Given the description of an element on the screen output the (x, y) to click on. 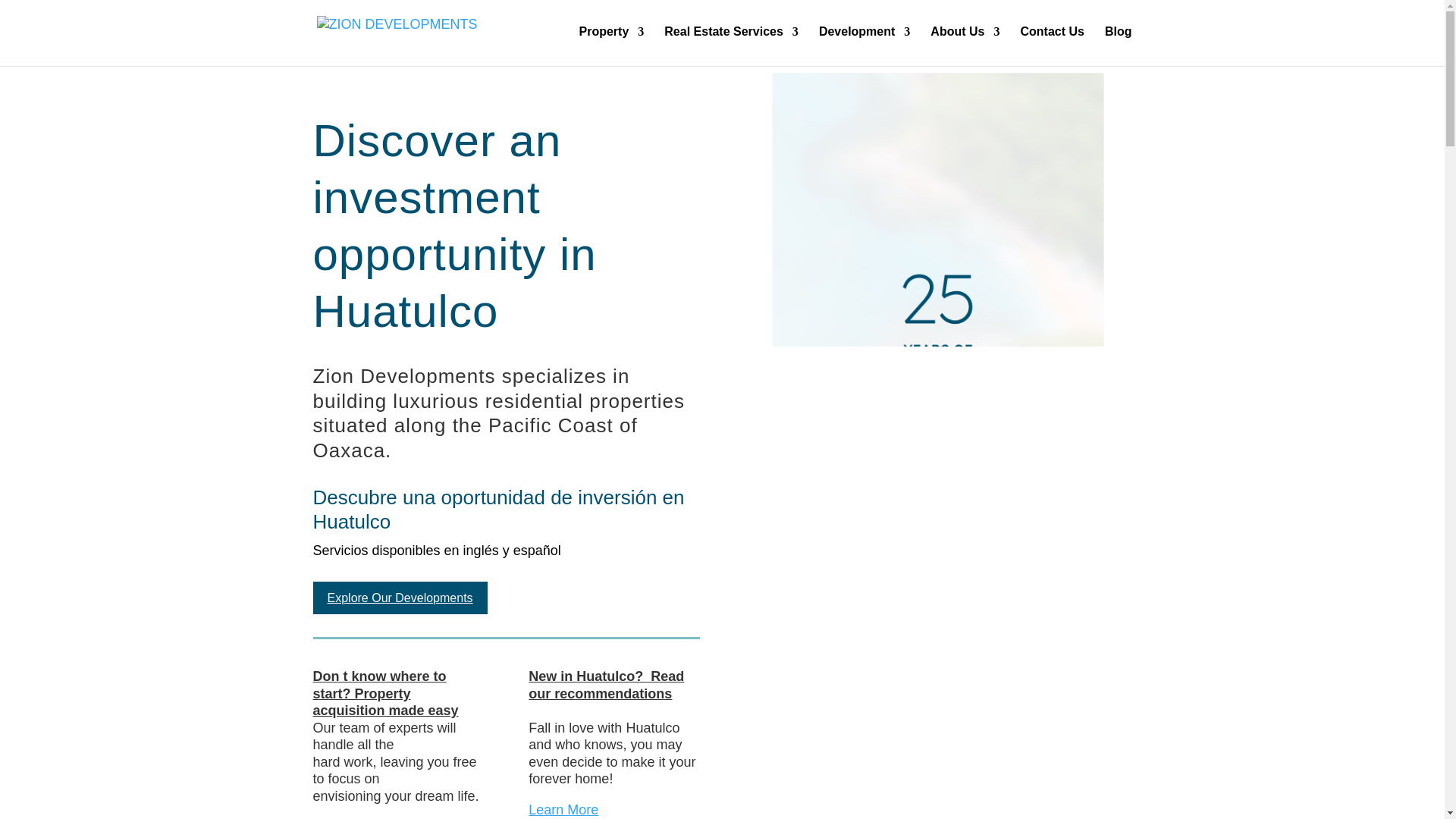
About Us (964, 42)
Contact Us (1051, 42)
Development (864, 42)
Property (612, 42)
Learn More (563, 809)
Explore Our Developments (399, 597)
Real Estate Services (730, 42)
